Given the description of an element on the screen output the (x, y) to click on. 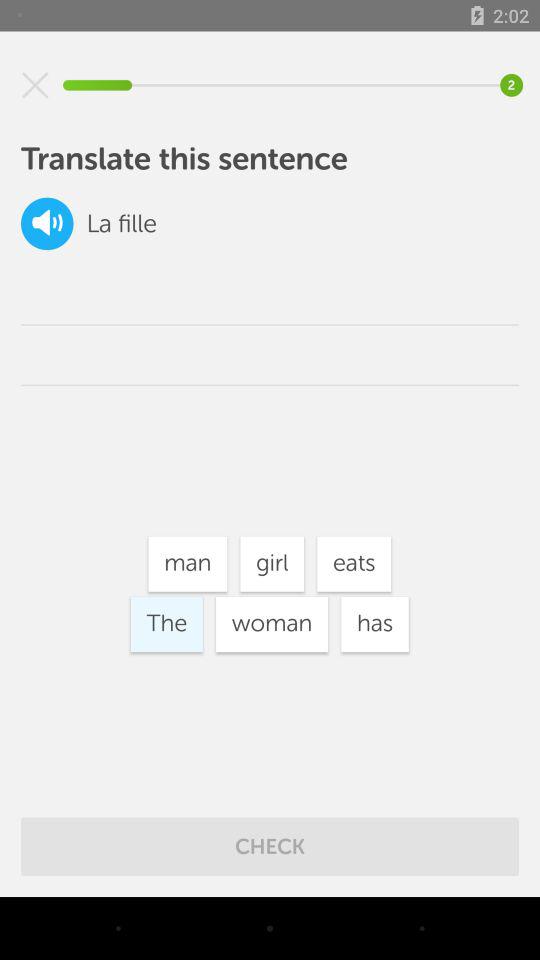
choose fille (137, 223)
